Given the description of an element on the screen output the (x, y) to click on. 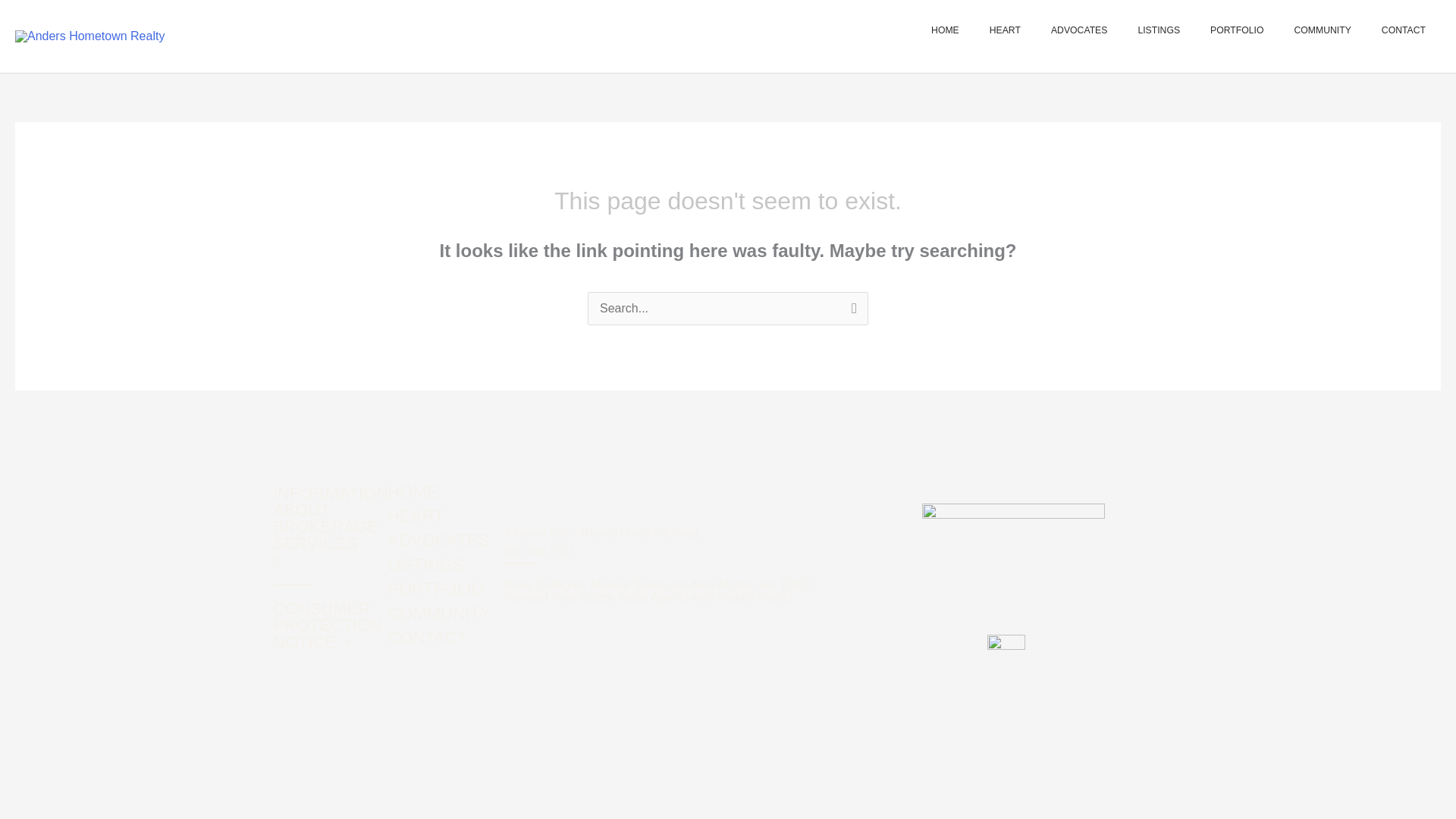
ADVOCATES (441, 540)
HEART (441, 516)
LISTINGS (441, 564)
PORTFOLIO (441, 589)
PORTFOLIO (1236, 30)
HOME (944, 30)
CONTACT (441, 637)
COMMUNITY (1321, 30)
LISTINGS (1158, 30)
ADVOCATES (1078, 30)
